Given the description of an element on the screen output the (x, y) to click on. 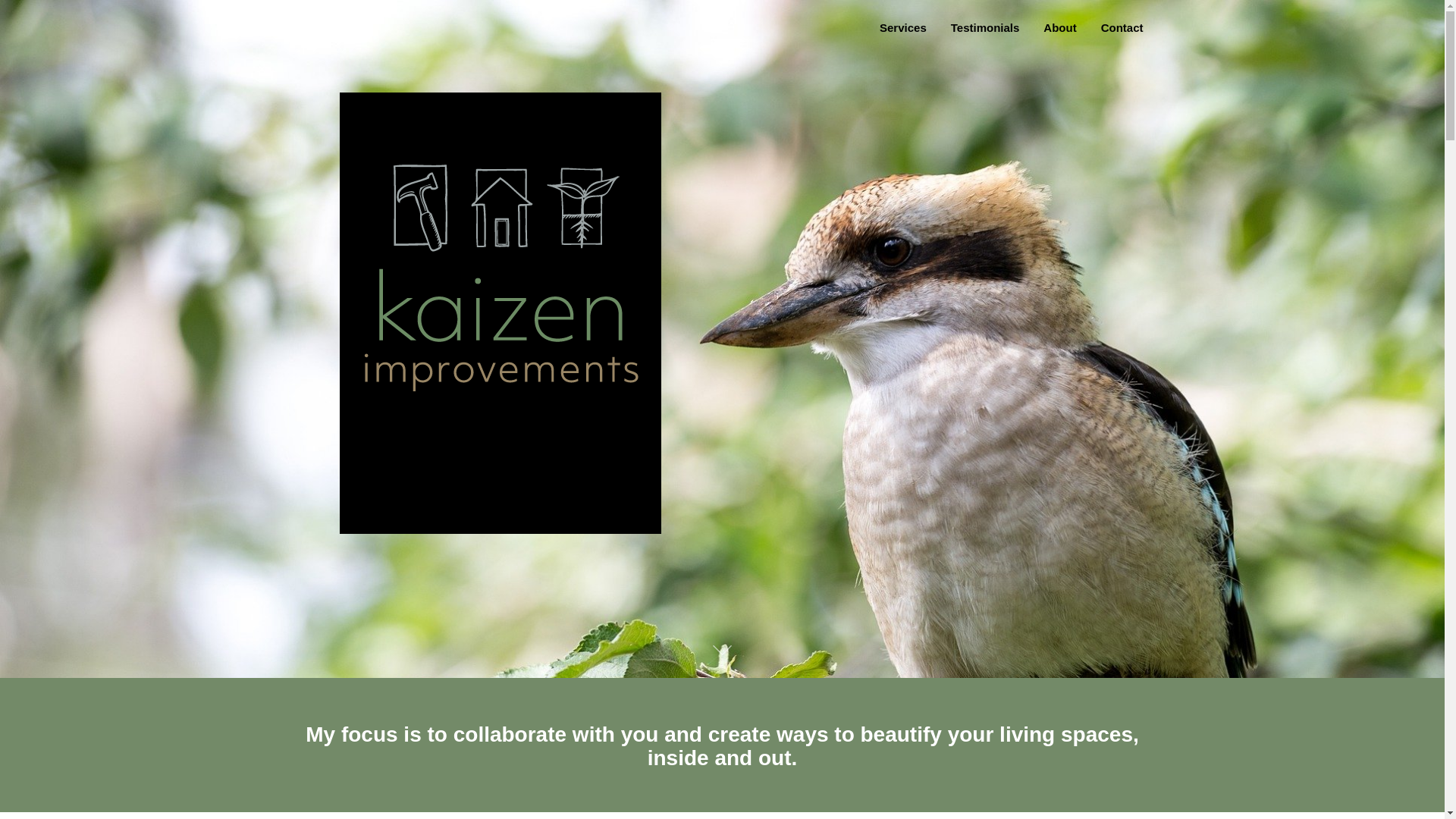
About Element type: text (1059, 28)
Testimonials Element type: text (984, 28)
Services Element type: text (902, 28)
Contact Element type: text (1122, 28)
